Given the description of an element on the screen output the (x, y) to click on. 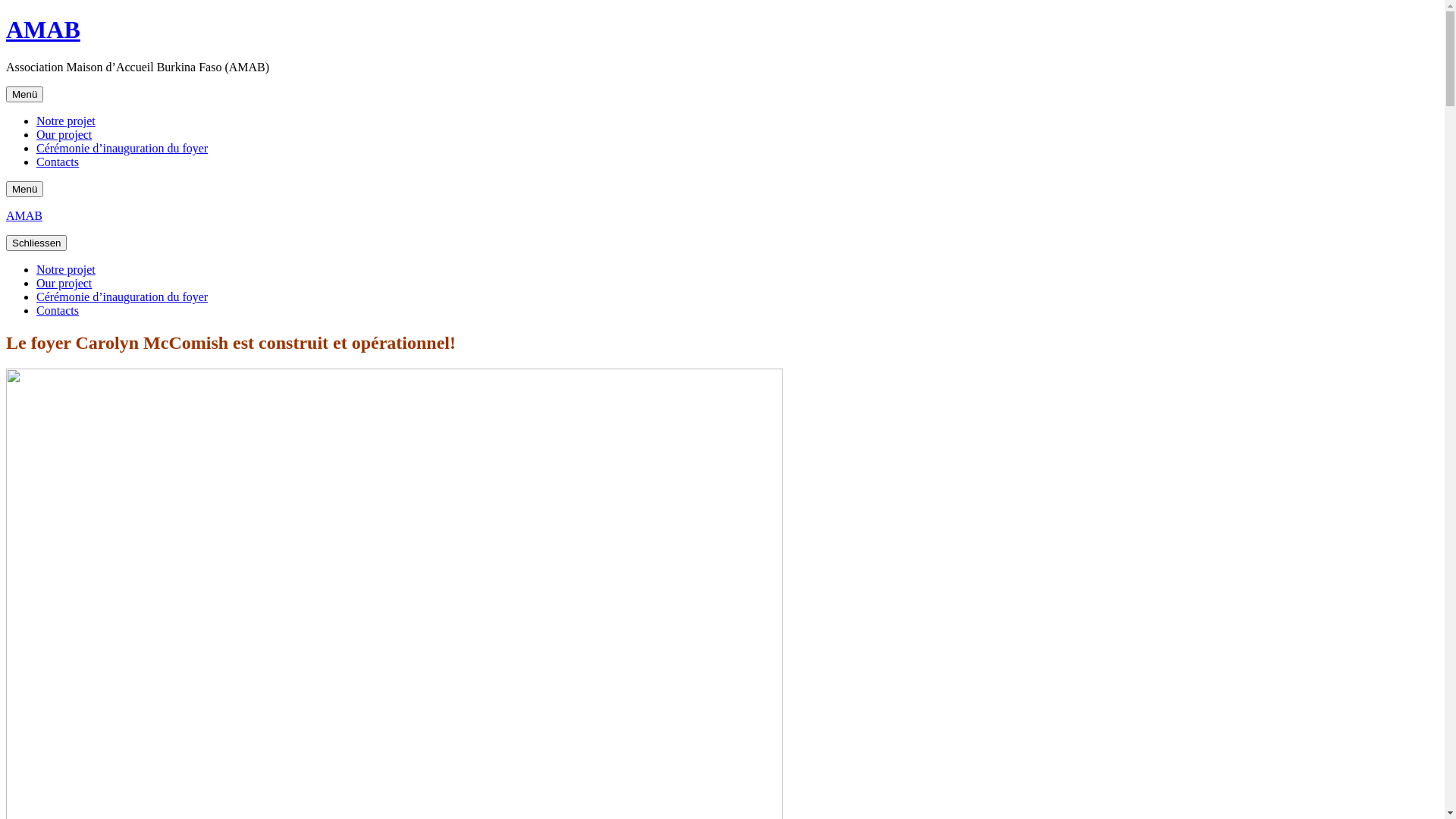
Contacts Element type: text (57, 161)
Notre projet Element type: text (65, 120)
AMAB Element type: text (43, 29)
AMAB Element type: text (24, 215)
Schliessen Element type: text (36, 243)
Notre projet Element type: text (65, 269)
Our project Element type: text (63, 134)
Contacts Element type: text (57, 310)
Our project Element type: text (63, 282)
